Given the description of an element on the screen output the (x, y) to click on. 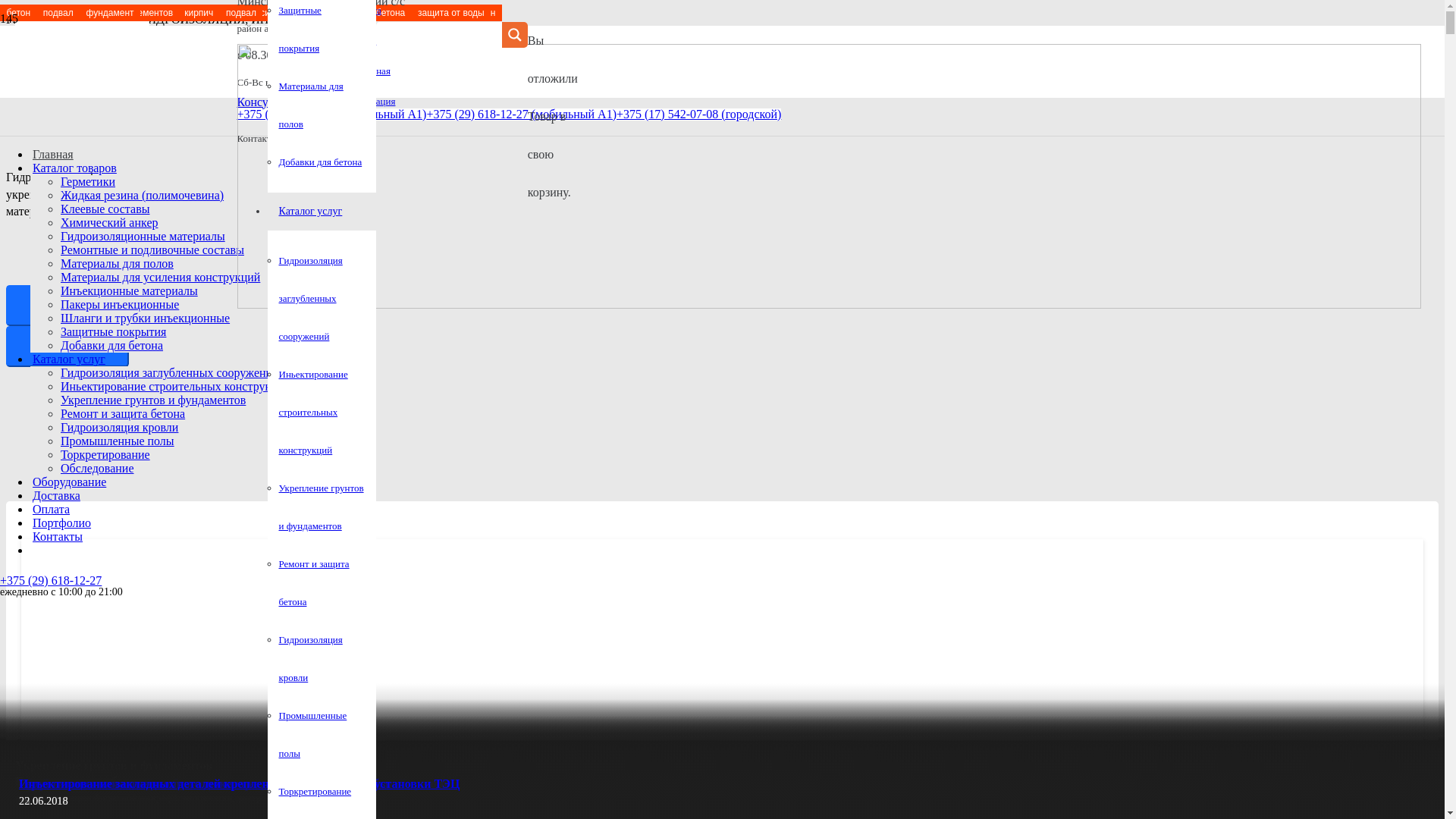
+375 (29) 618-12-27 Element type: text (50, 580)
